Given the description of an element on the screen output the (x, y) to click on. 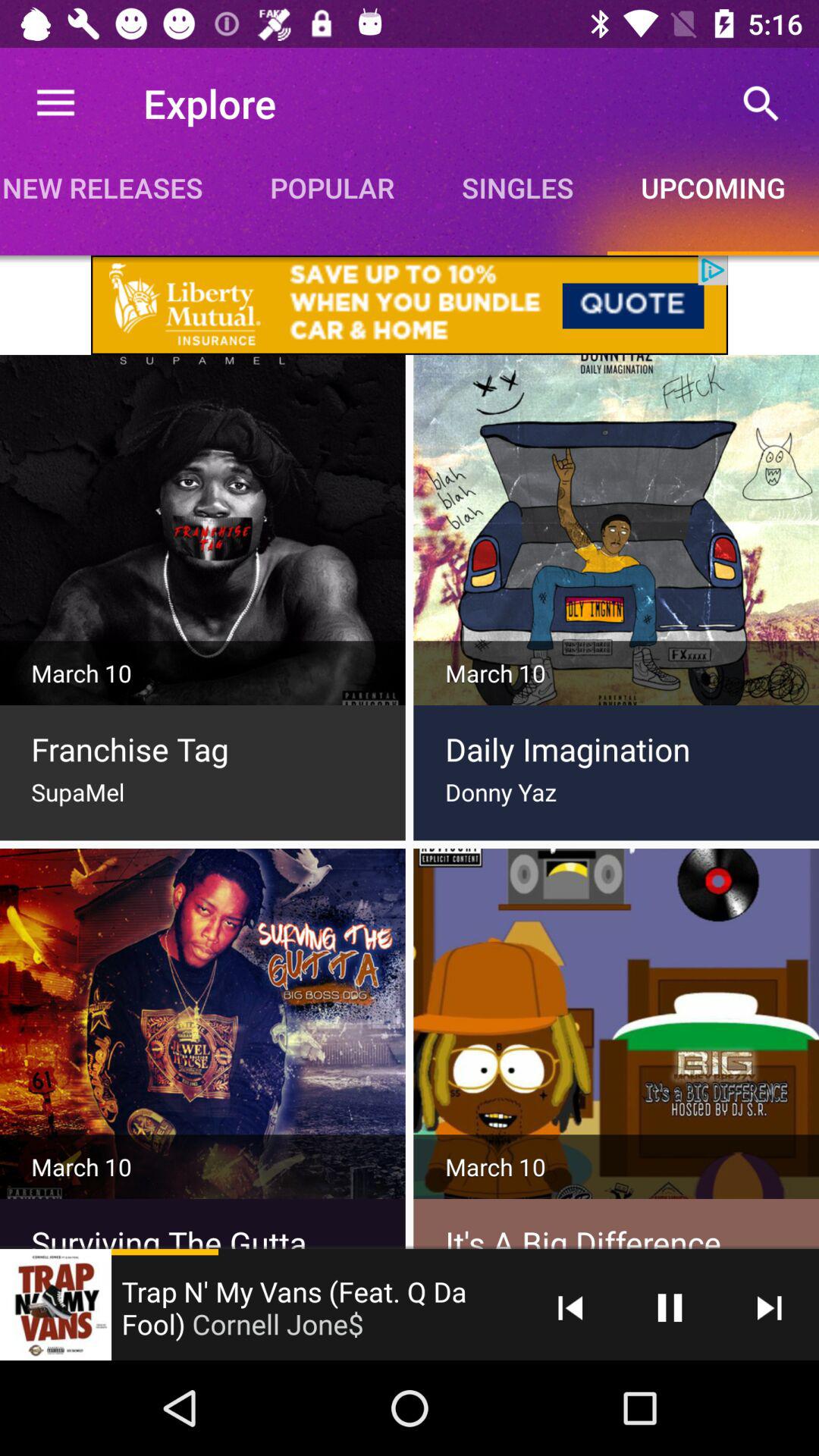
turn on icon next to the explore item (55, 103)
